Given the description of an element on the screen output the (x, y) to click on. 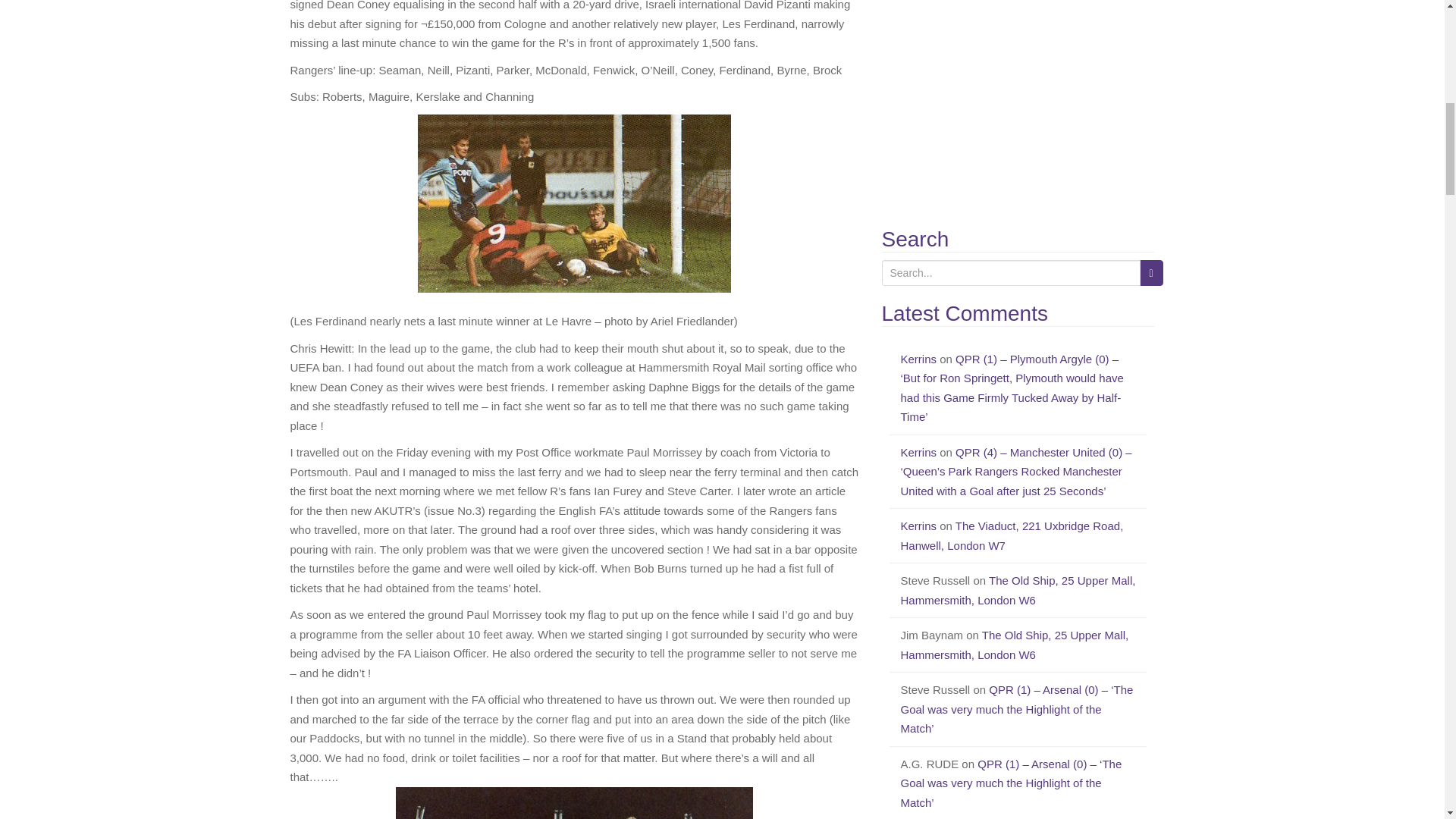
Kerrins (919, 358)
LeHavreQPRlesshoots1987391 (573, 203)
LeHavrefansQPR1987389 (574, 803)
